Given the description of an element on the screen output the (x, y) to click on. 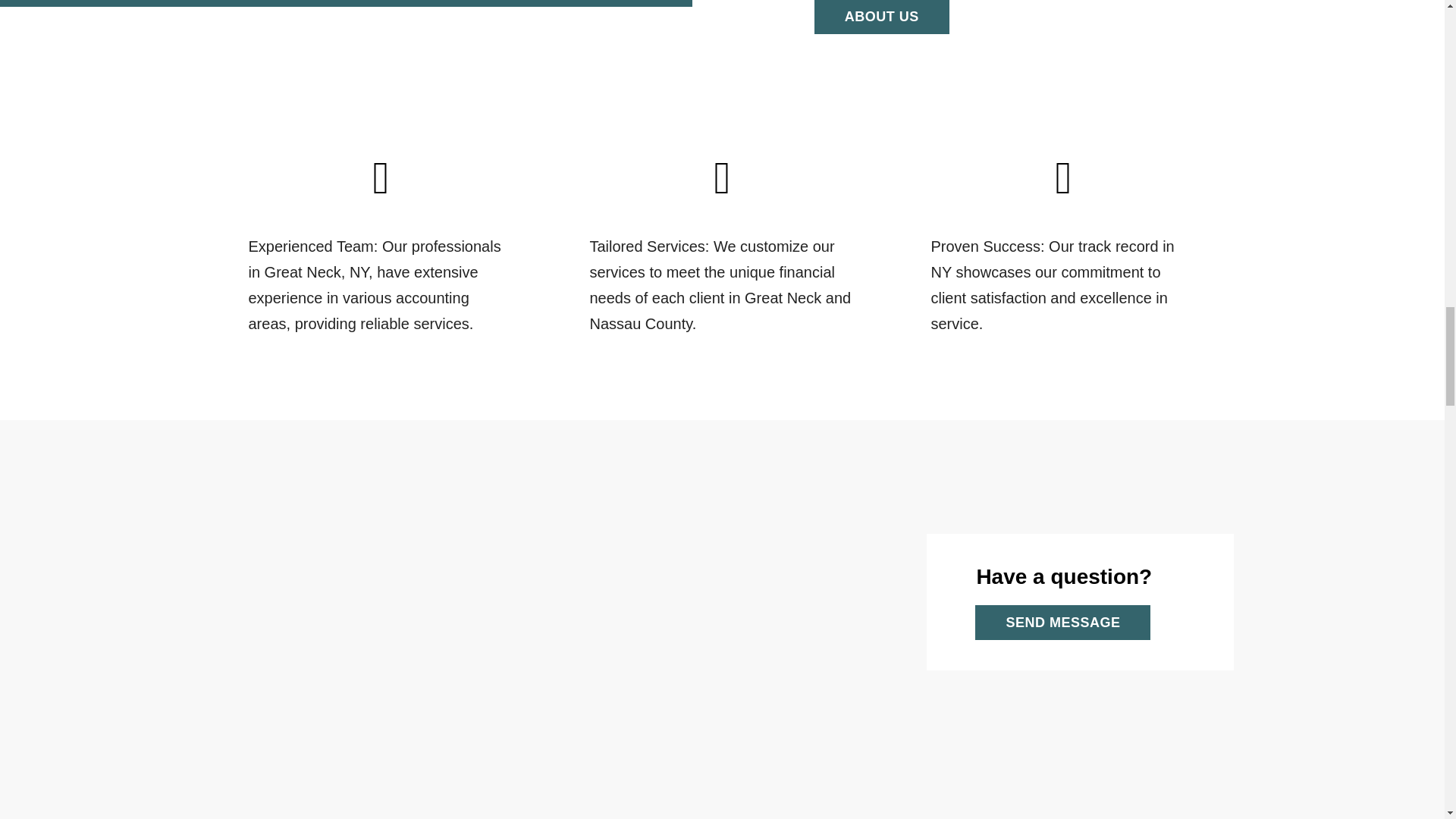
Have a question? (1080, 576)
ABOUT US (881, 17)
SEND MESSAGE (1053, 622)
